Given the description of an element on the screen output the (x, y) to click on. 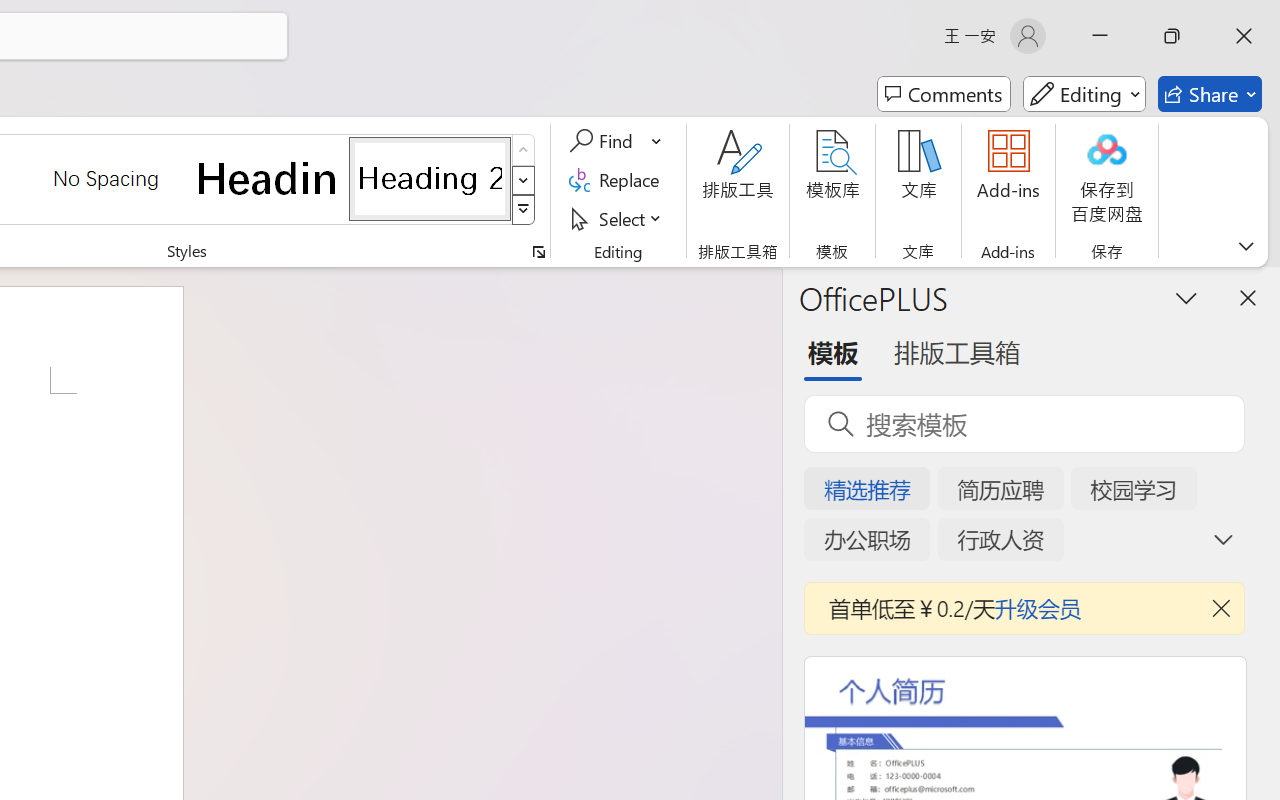
Share (1210, 94)
Heading 1 (267, 178)
Styles (523, 209)
